Given the description of an element on the screen output the (x, y) to click on. 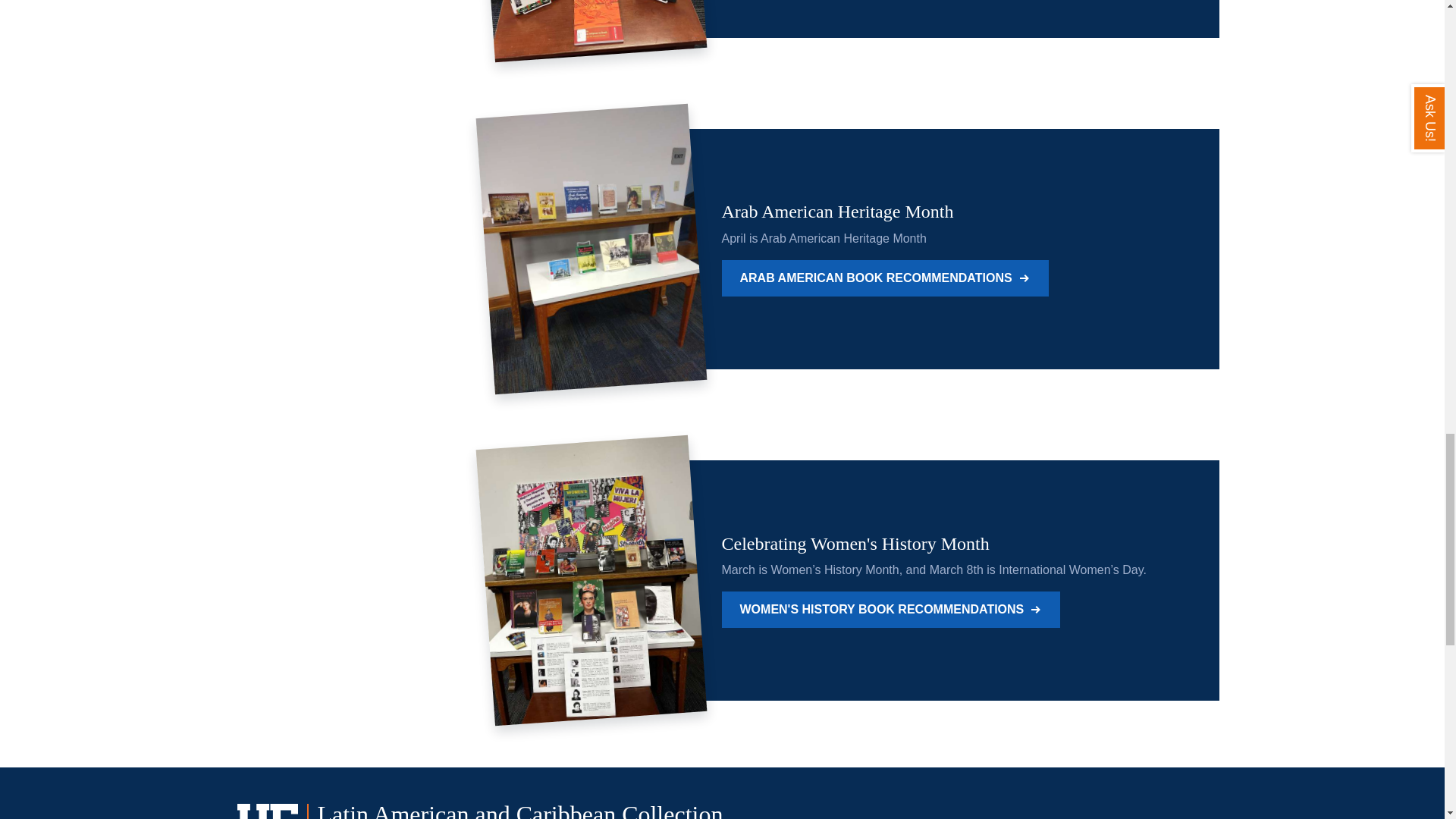
Library Staff (1166, 818)
Libraries Home (1069, 818)
